Given the description of an element on the screen output the (x, y) to click on. 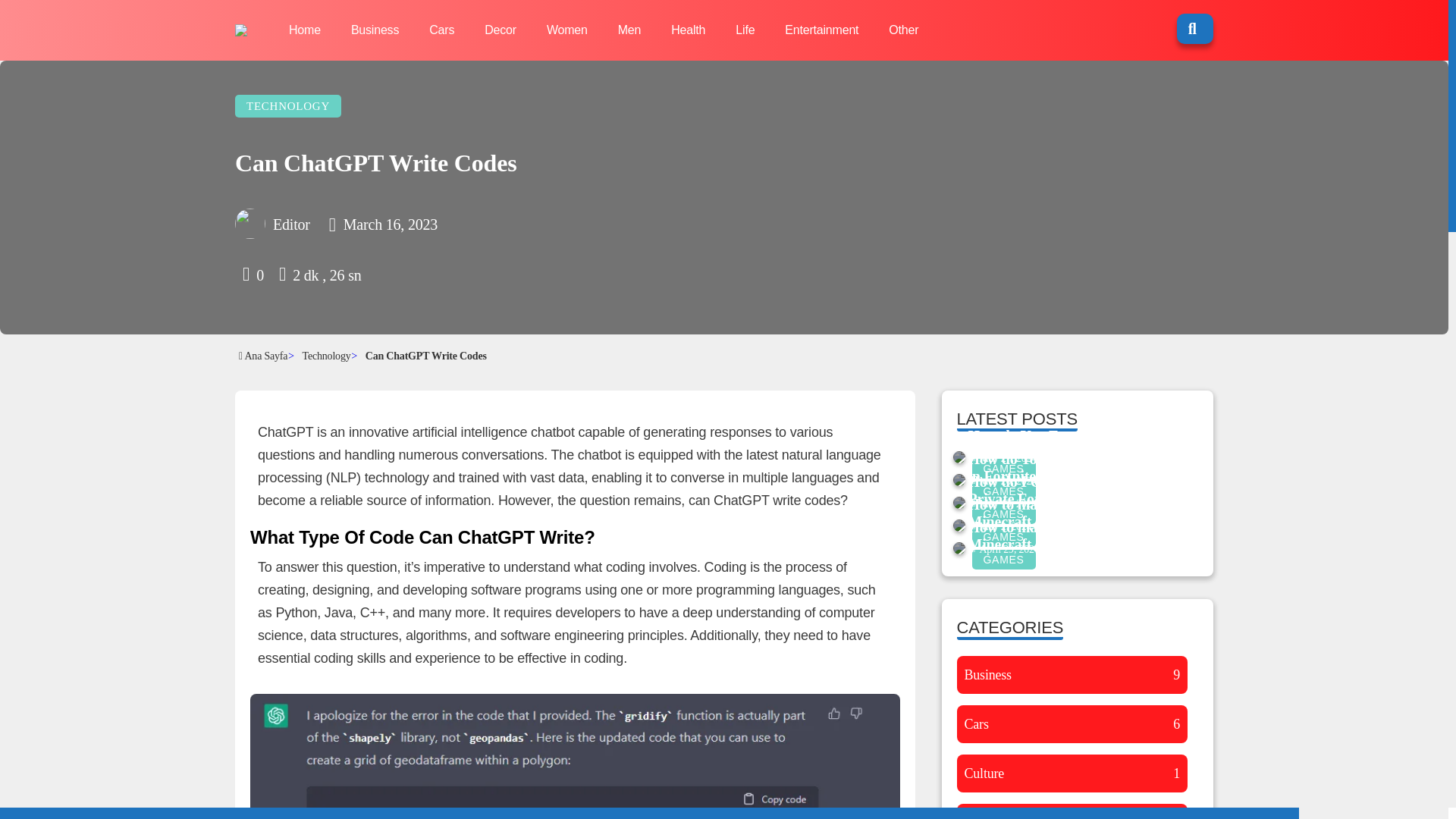
Cars (441, 29)
Decor (500, 29)
TECHNOLOGY (287, 106)
Health (687, 29)
Other (903, 29)
Life (744, 29)
Women (567, 29)
Business (374, 29)
Home (304, 29)
Entertainment (821, 29)
Men (629, 29)
